Given the description of an element on the screen output the (x, y) to click on. 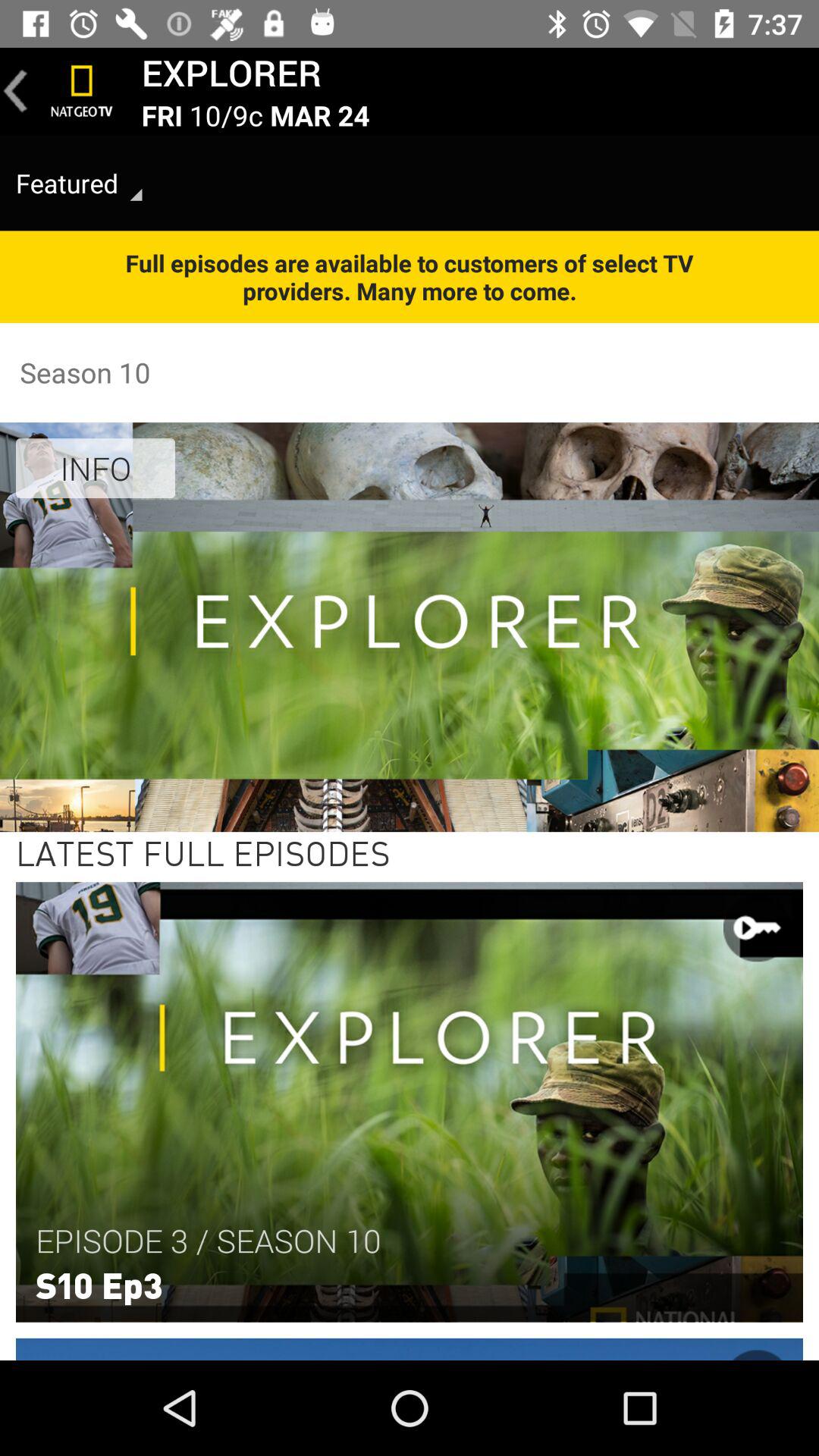
turn off item above featured item (15, 90)
